Given the description of an element on the screen output the (x, y) to click on. 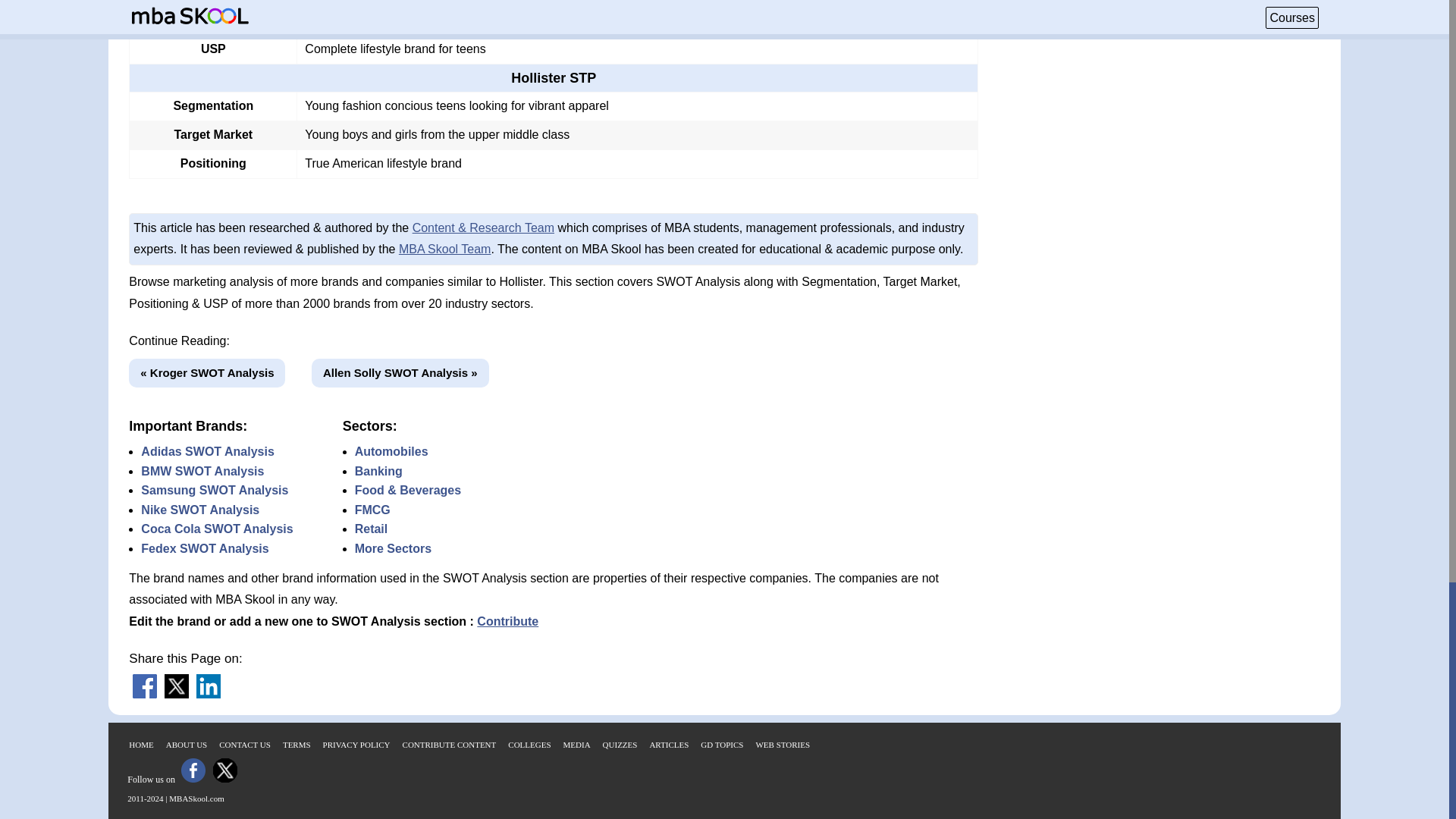
FMCG (372, 509)
Nike SWOT Analysis (200, 509)
Tweet (176, 694)
Automobiles (391, 451)
BMW SWOT Analysis (202, 471)
Coca Cola SWOT Analysis (216, 528)
Adidas SWOT Analysis (207, 451)
Banking (379, 471)
Facebook Share (144, 694)
Kroger SWOT Analysis (207, 373)
